Given the description of an element on the screen output the (x, y) to click on. 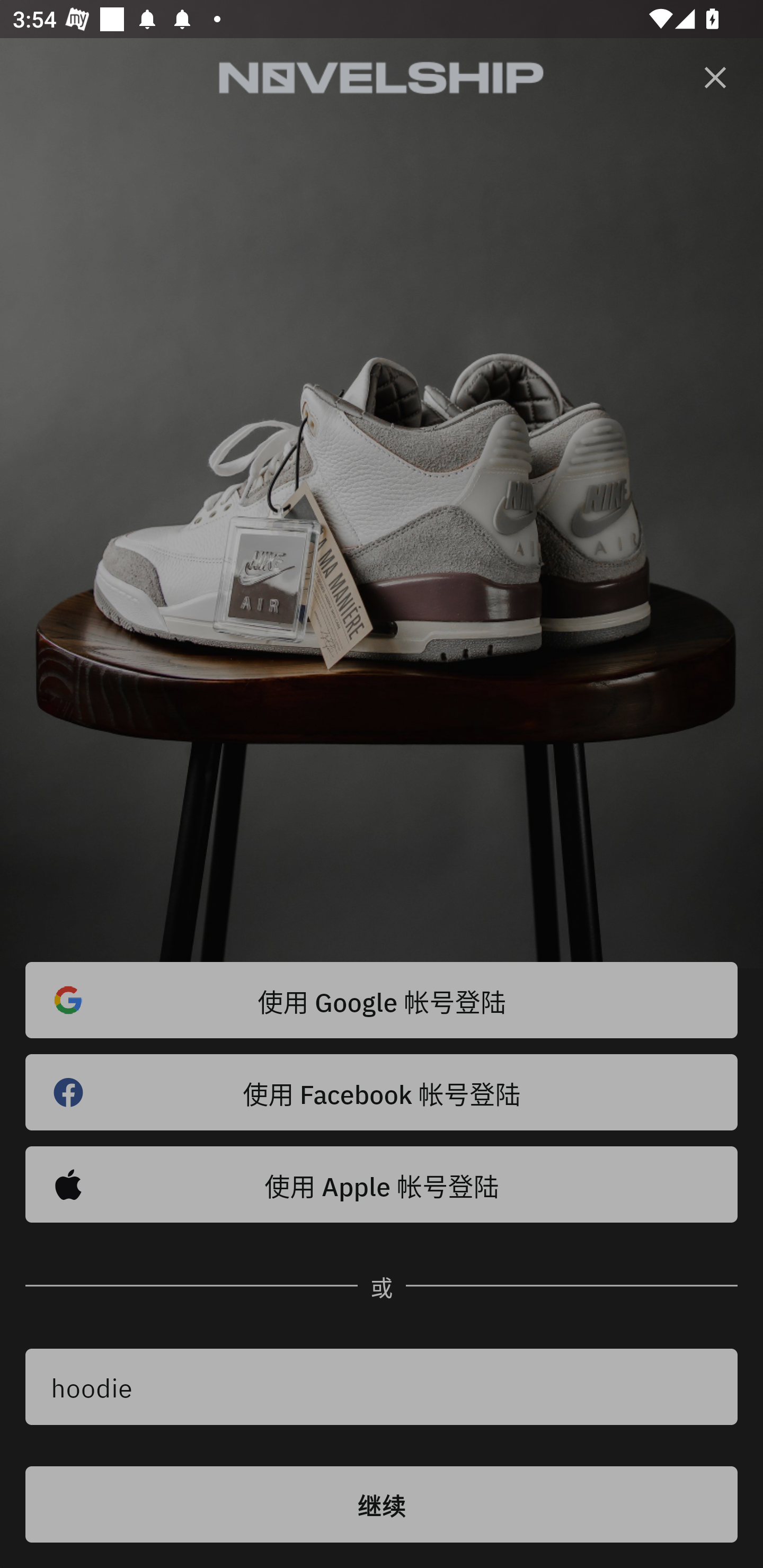
使用 Google 帐号登陆 (381, 1000)
使用 Facebook 帐号登陆 󰈌 (381, 1091)
 使用 Apple 帐号登陆 (381, 1184)
hoodie (381, 1386)
继续 (381, 1504)
